Given the description of an element on the screen output the (x, y) to click on. 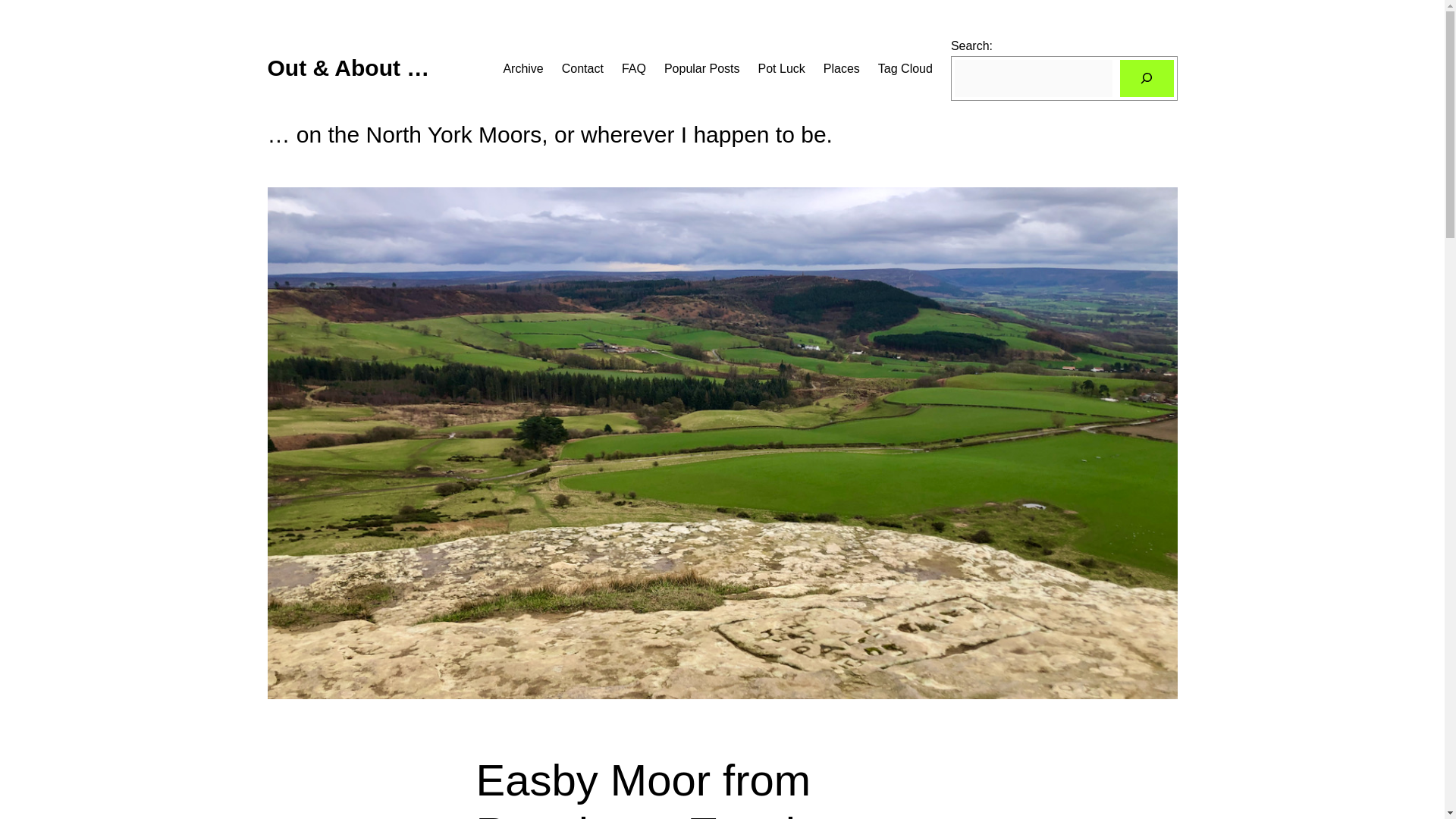
FAQ (633, 68)
Contact (583, 68)
Archive (522, 68)
Places (842, 68)
Popular Posts (701, 68)
Tag Cloud (905, 68)
Pot Luck (781, 68)
